Given the description of an element on the screen output the (x, y) to click on. 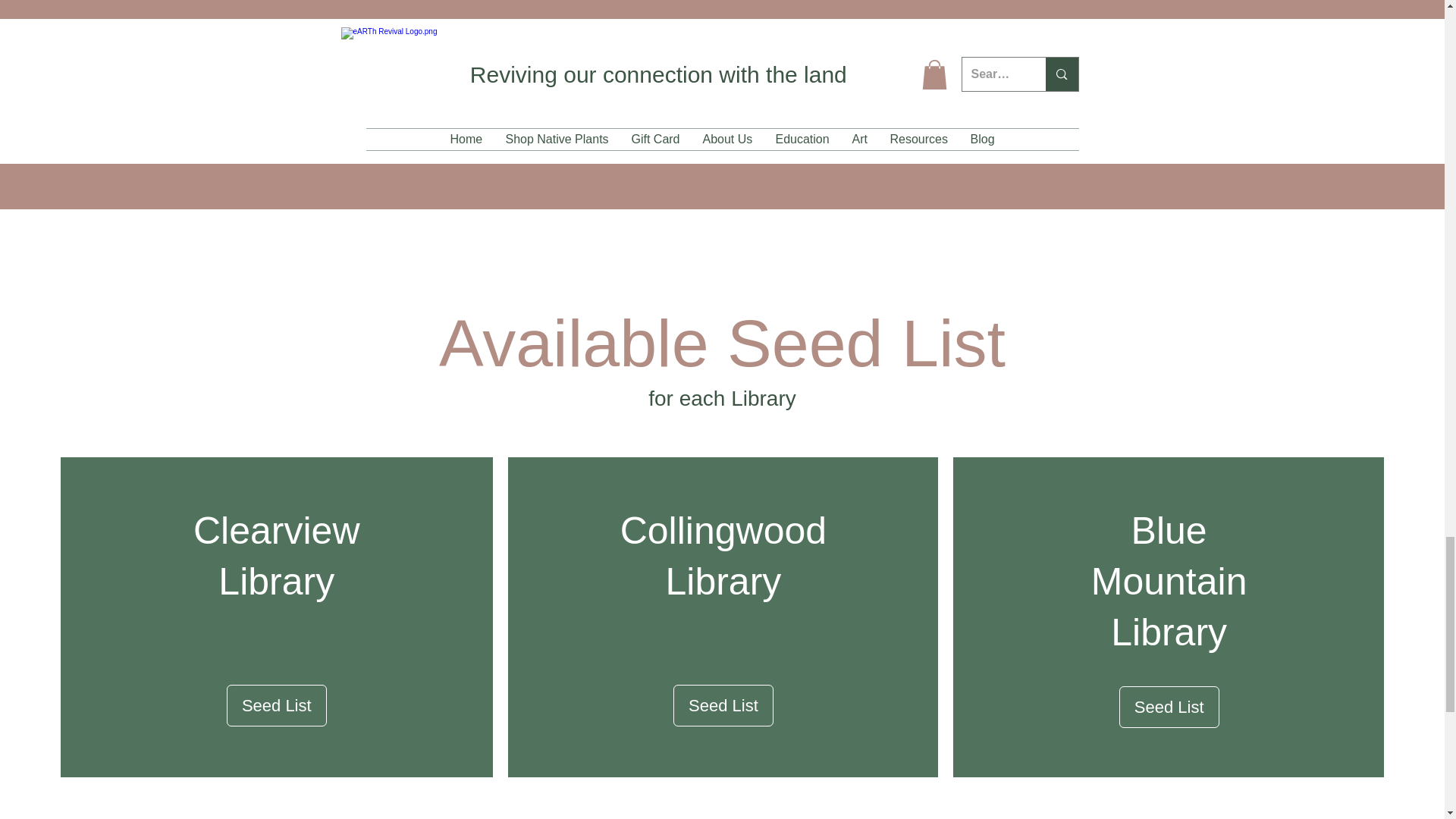
Seed List (722, 705)
Seed List (276, 705)
Seed List (1169, 707)
